Given the description of an element on the screen output the (x, y) to click on. 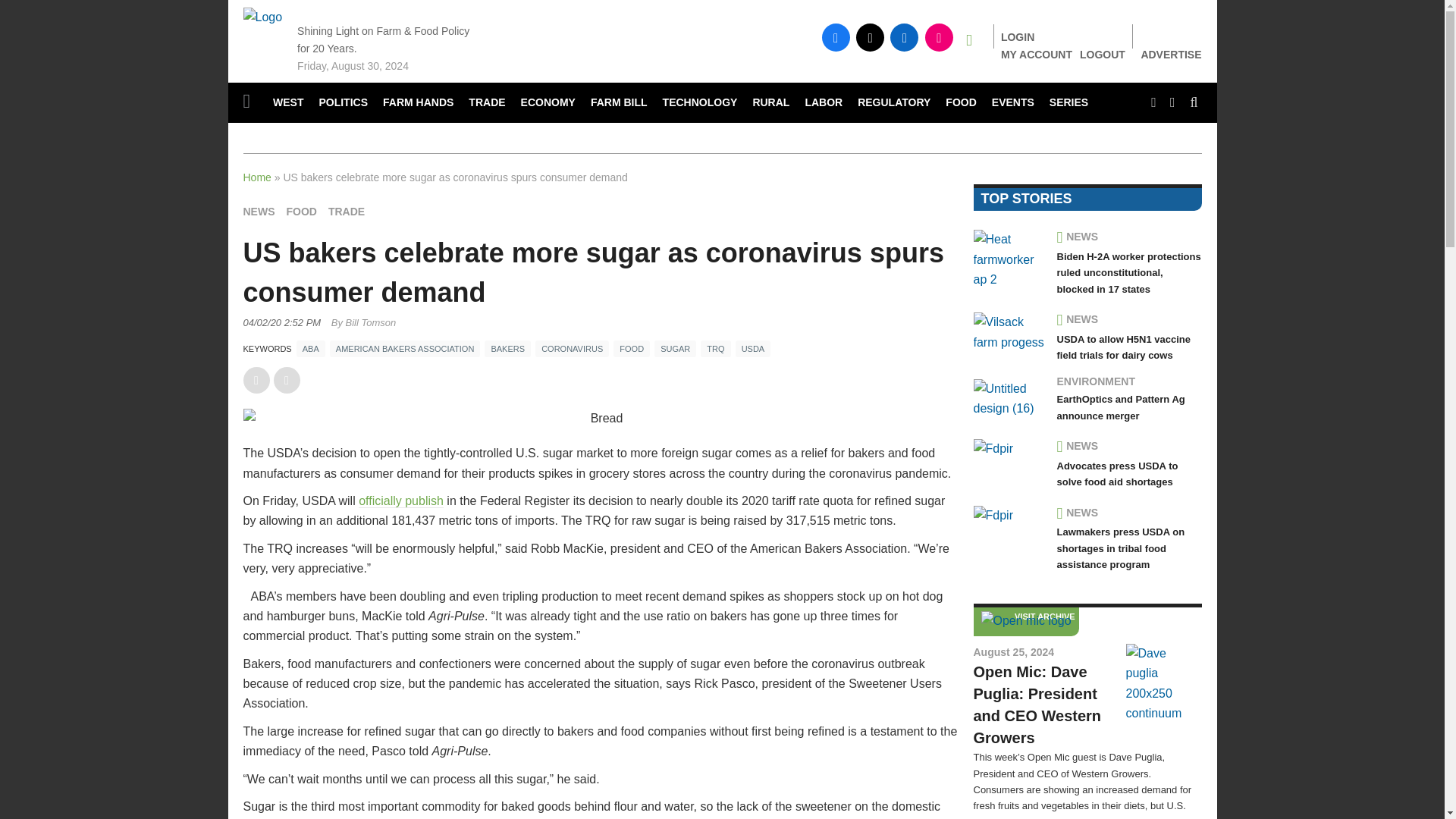
LOGOUT (1102, 54)
LABOR (823, 102)
MY ACCOUNT (1036, 54)
REGULATORY (893, 102)
ADVERTISE (1170, 54)
FOOD (960, 102)
EVENTS (1013, 102)
WEST (287, 102)
TECHNOLOGY (700, 102)
LOGIN (1017, 37)
